Given the description of an element on the screen output the (x, y) to click on. 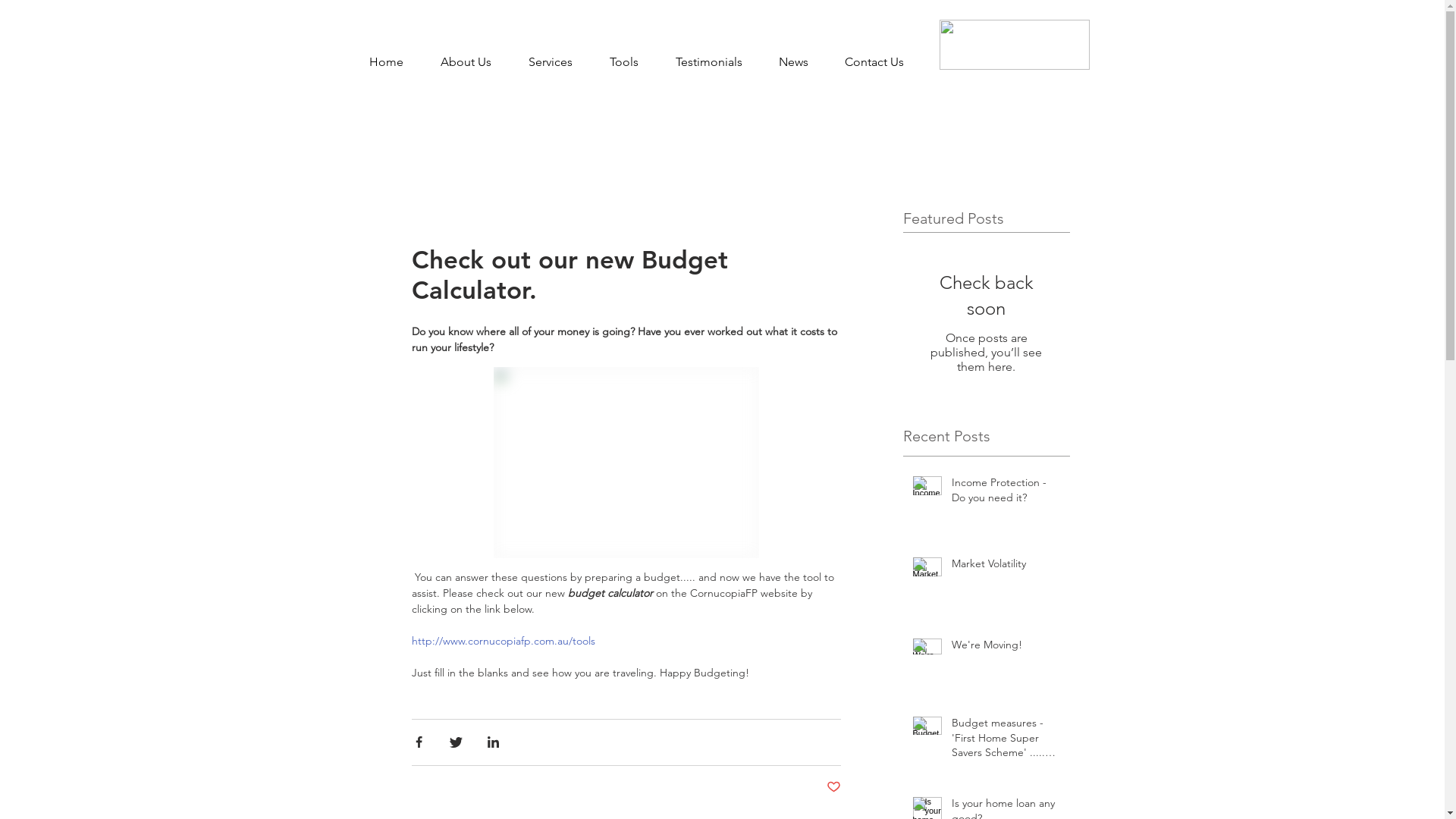
http://www.cornucopiafp.com.au/tools Element type: text (502, 640)
Testimonials Element type: text (707, 61)
Services Element type: text (549, 61)
Home Element type: text (385, 61)
Market Volatility Element type: text (1005, 566)
We're Moving! Element type: text (1005, 647)
Income Protection - Do you need it? Element type: text (1005, 493)
Tools Element type: text (624, 61)
About Us Element type: text (465, 61)
Post not marked as liked Element type: text (833, 787)
News Element type: text (792, 61)
Contact Us Element type: text (874, 61)
